Given the description of an element on the screen output the (x, y) to click on. 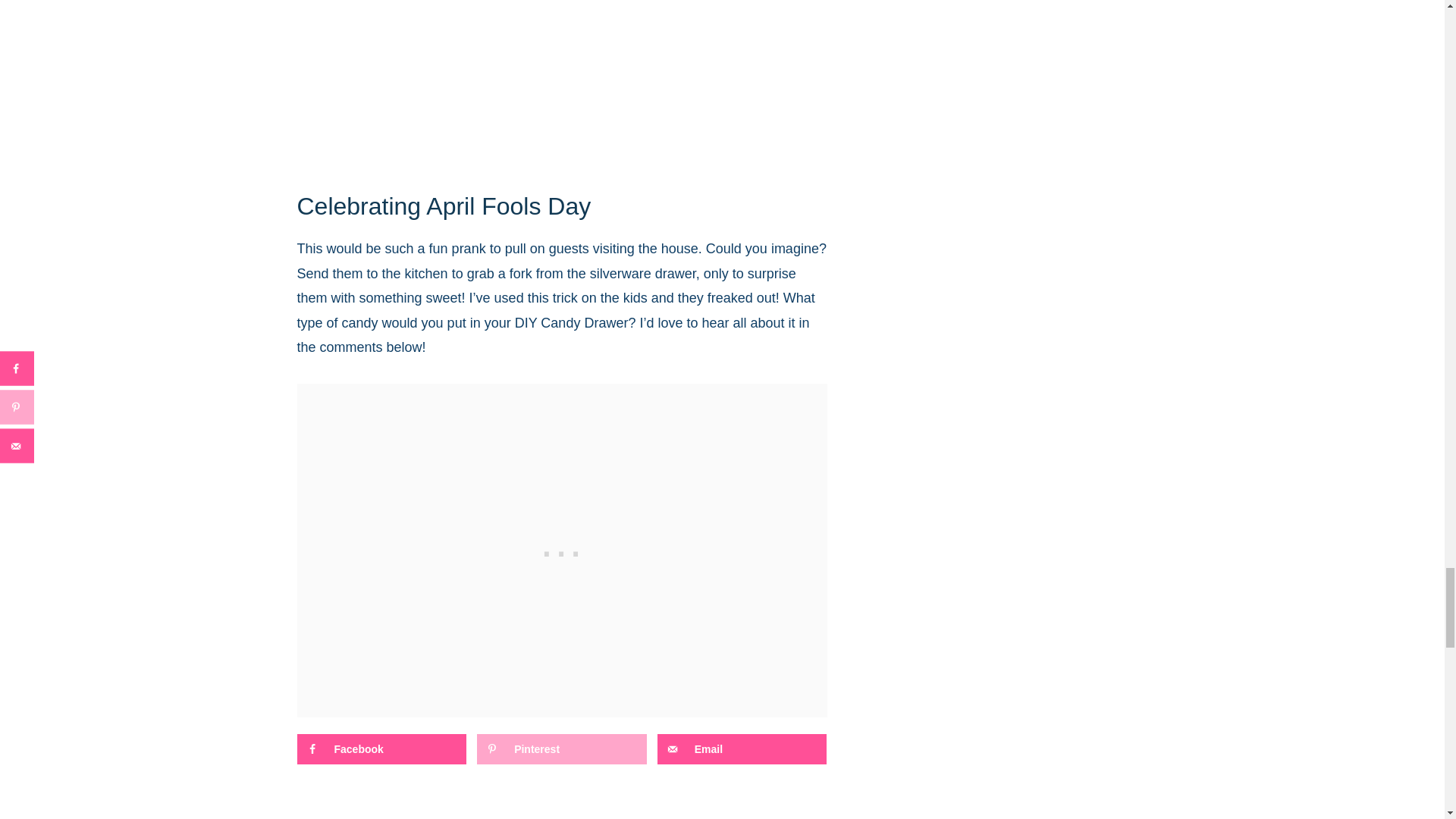
Share on Facebook (382, 748)
Save to Pinterest (561, 748)
Send over email (742, 748)
